Given the description of an element on the screen output the (x, y) to click on. 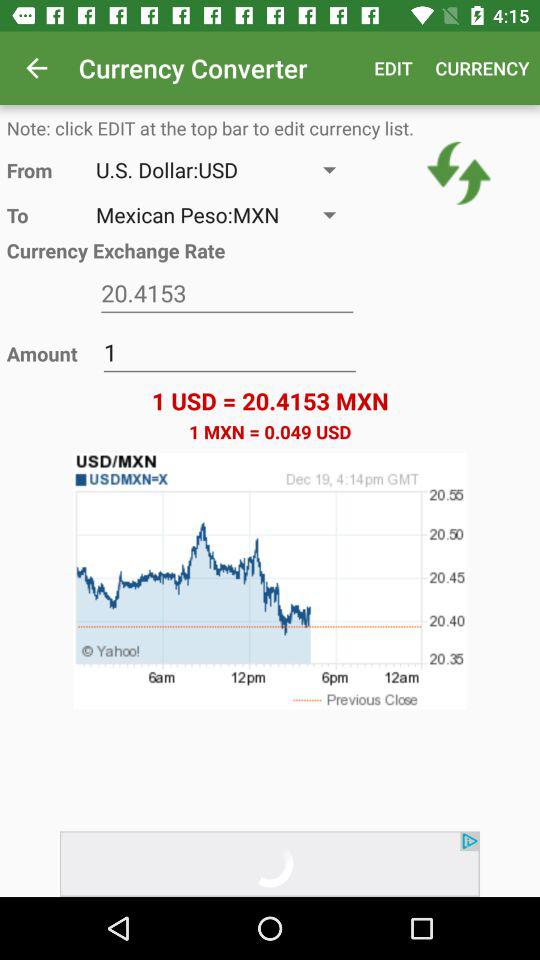
choose item above the note click edit icon (36, 68)
